Given the description of an element on the screen output the (x, y) to click on. 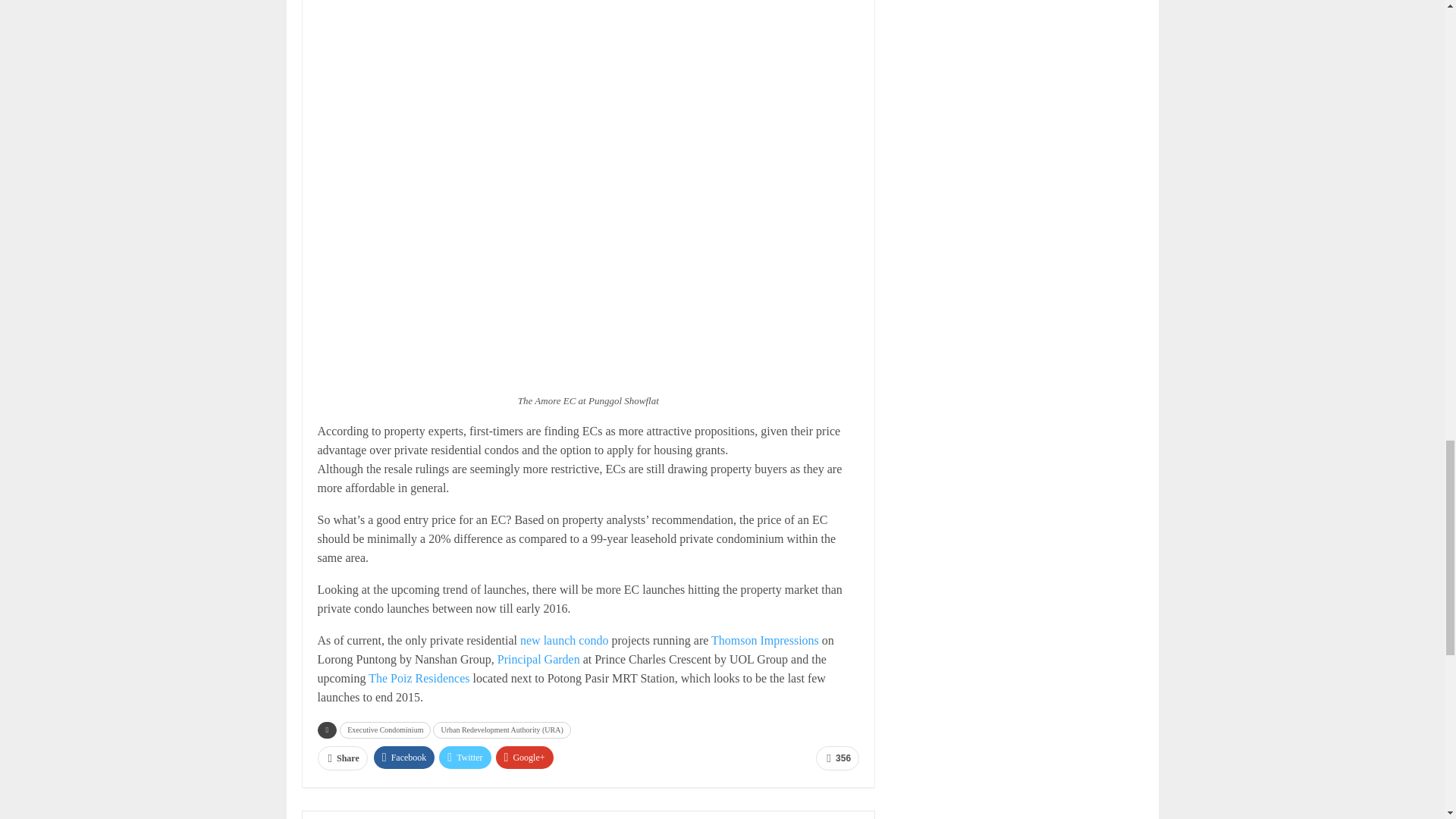
Principal Garden (538, 658)
new launch condo (563, 640)
The Poiz Residences (418, 677)
Facebook (404, 757)
Twitter (464, 757)
Principal Garden (538, 658)
New Launch Condo (563, 640)
Thomson Impressions (764, 640)
The Poiz Residences (418, 677)
Executive Condominium (384, 729)
